Given the description of an element on the screen output the (x, y) to click on. 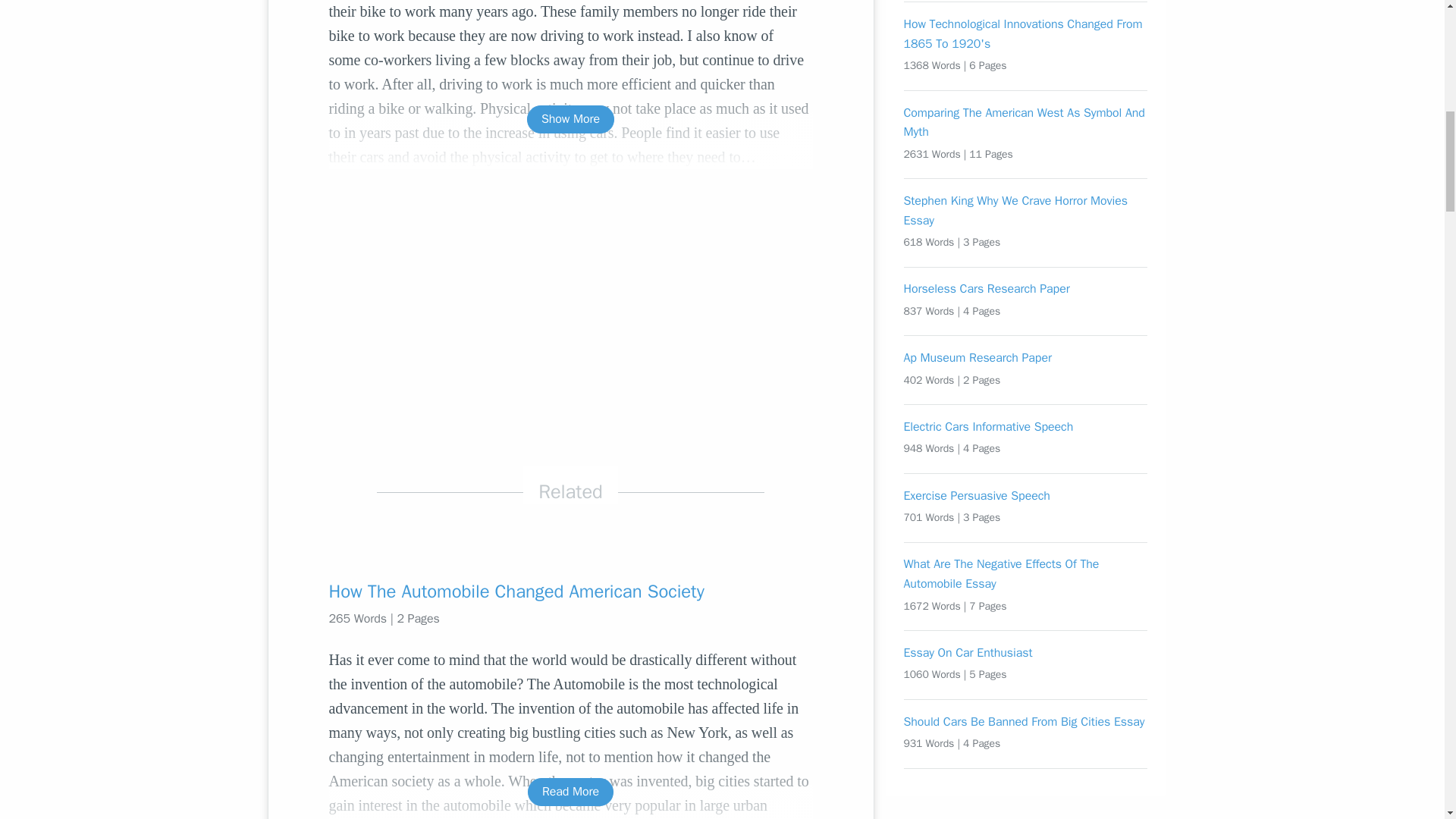
Read More (569, 791)
How The Automobile Changed American Society (570, 591)
Show More (570, 119)
